Given the description of an element on the screen output the (x, y) to click on. 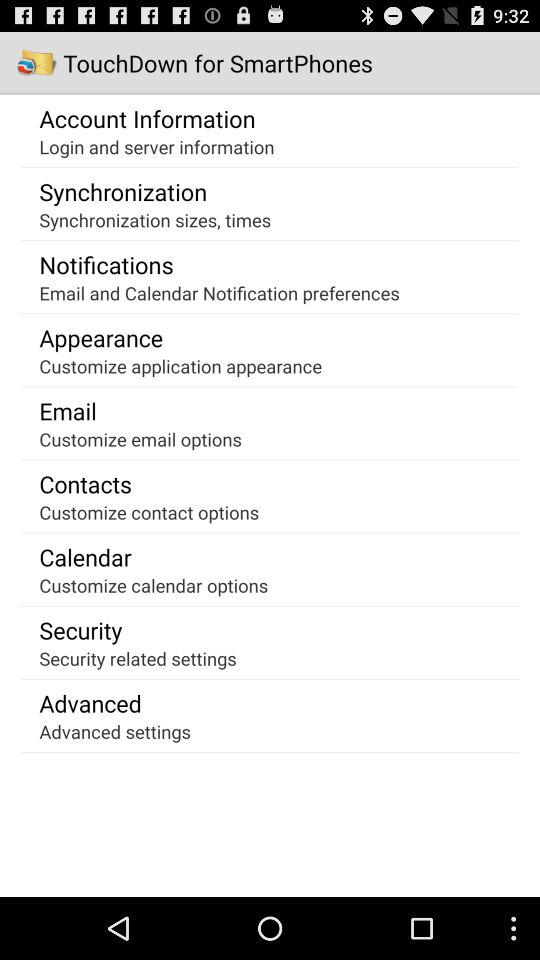
launch the app at the center (180, 365)
